Given the description of an element on the screen output the (x, y) to click on. 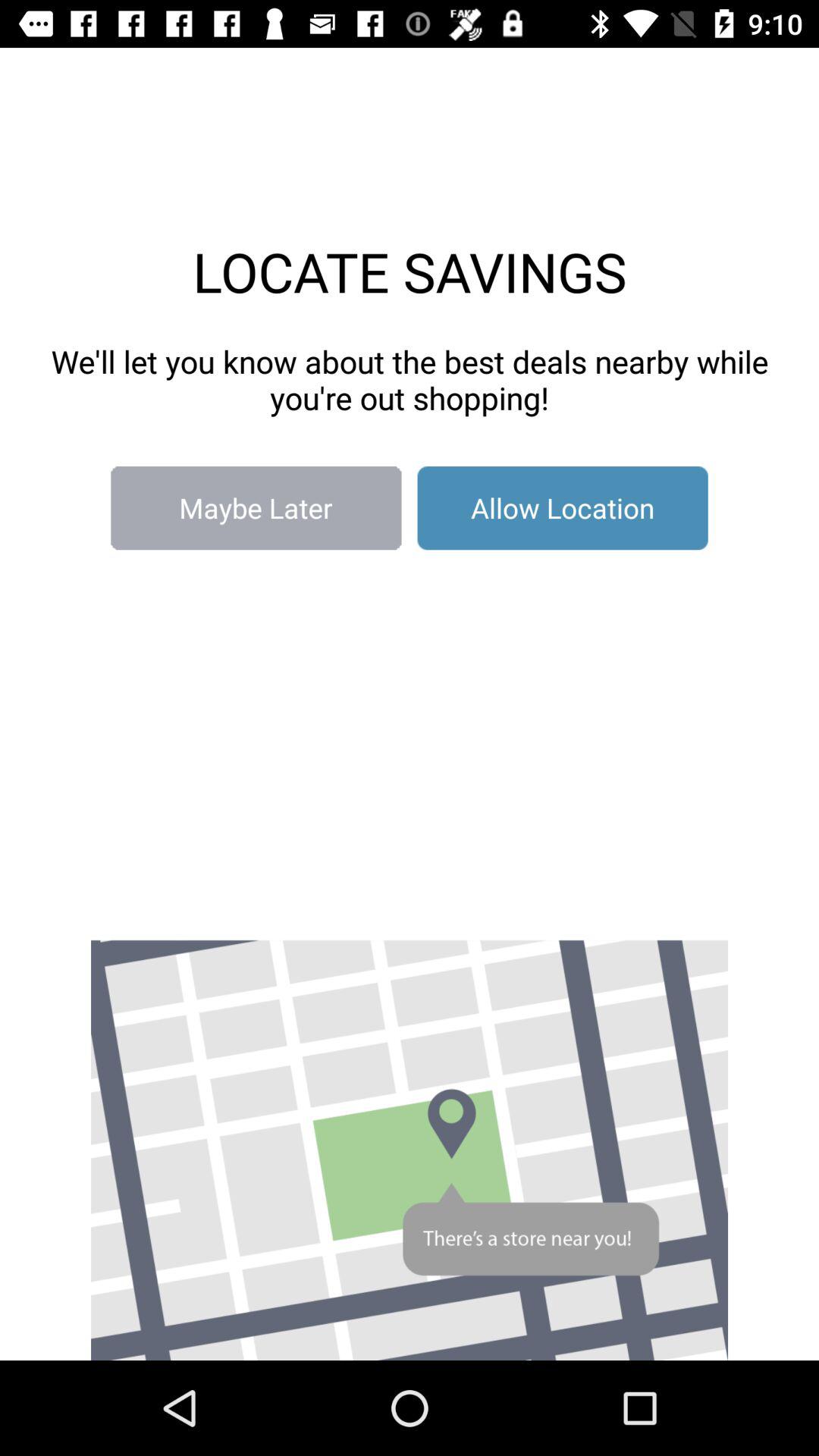
open the app to the left of allow location item (255, 507)
